Given the description of an element on the screen output the (x, y) to click on. 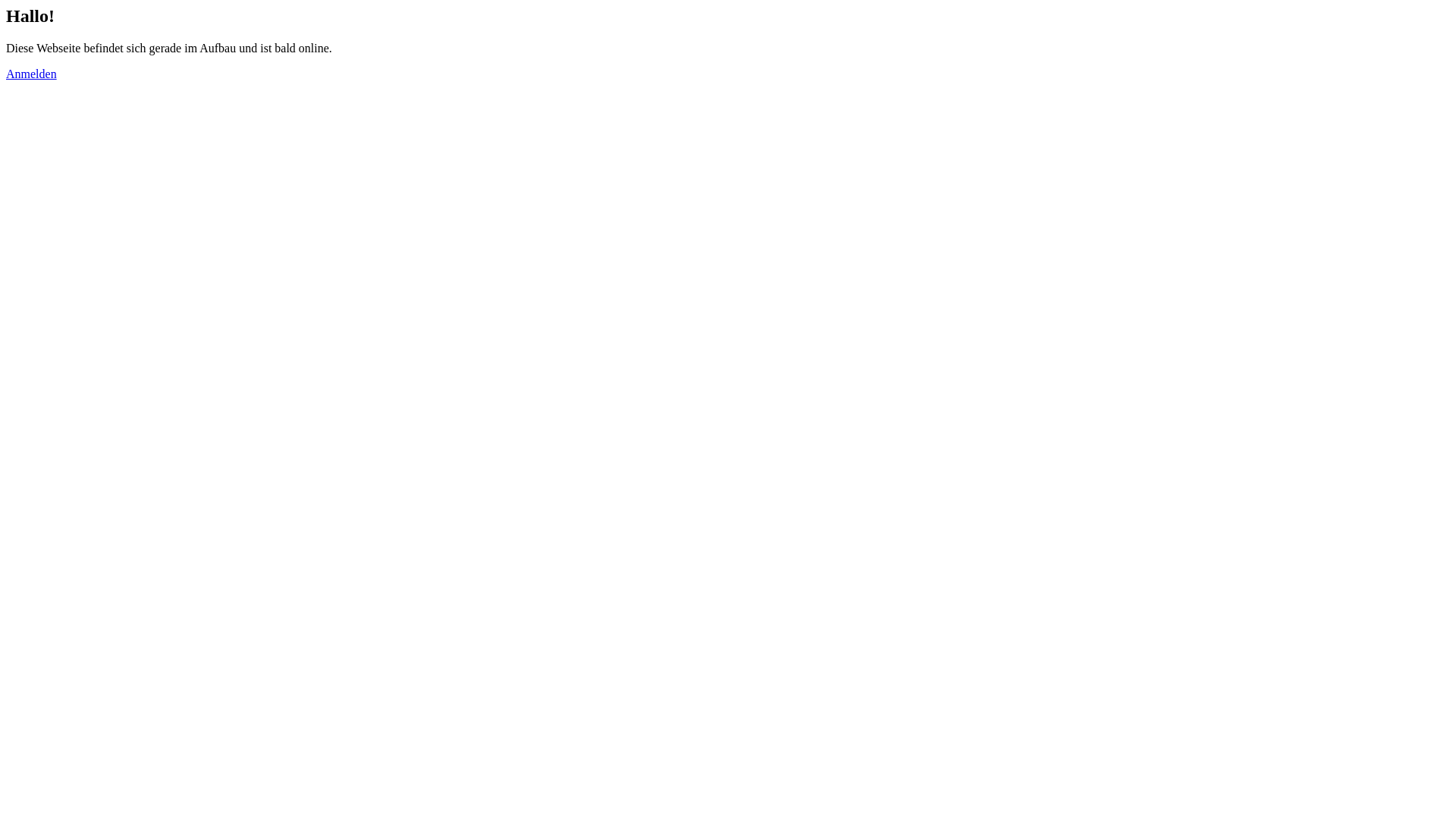
Anmelden Element type: text (31, 73)
